Given the description of an element on the screen output the (x, y) to click on. 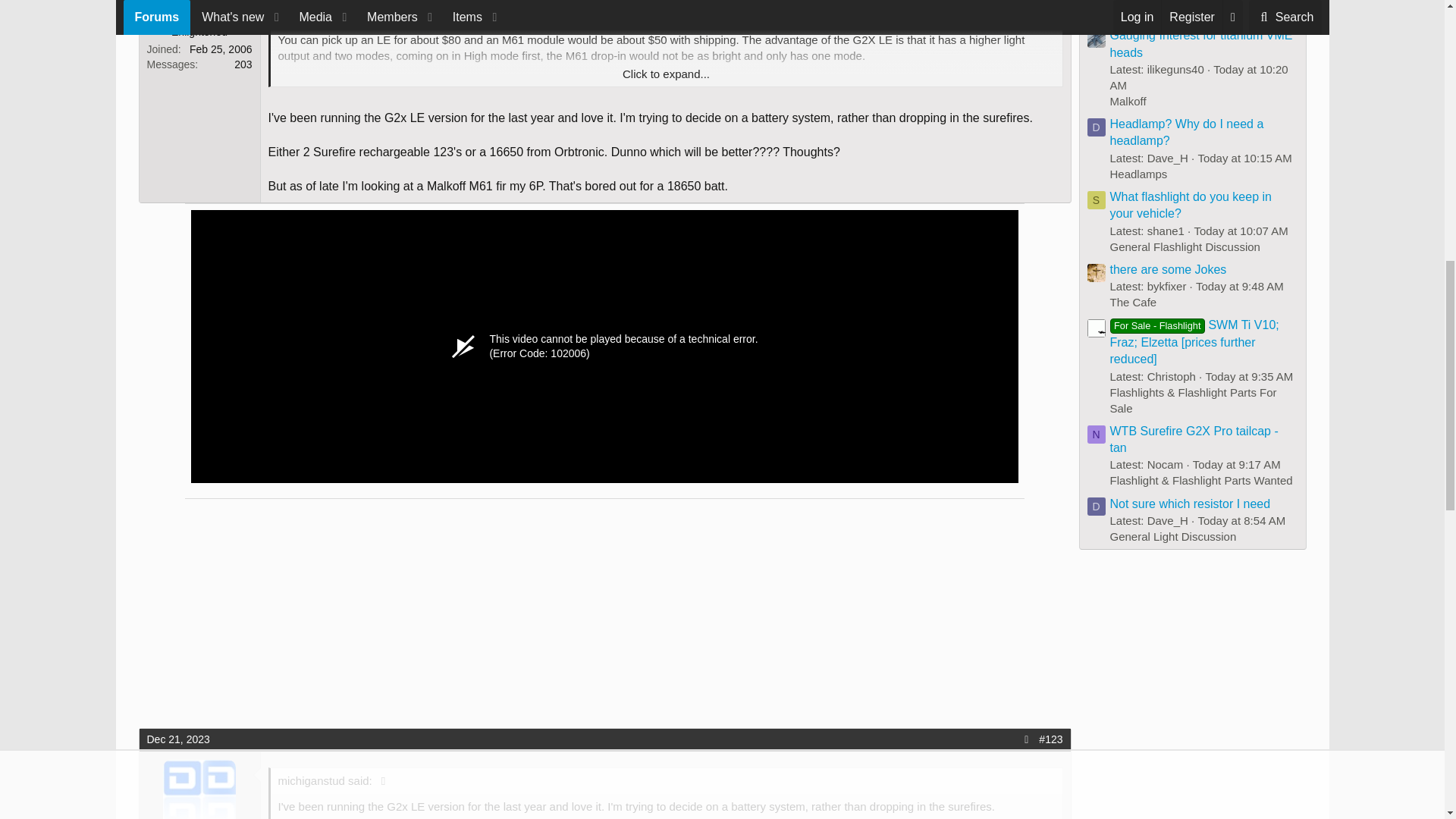
Dec 21, 2023 at 11:44 AM (178, 739)
